Given the description of an element on the screen output the (x, y) to click on. 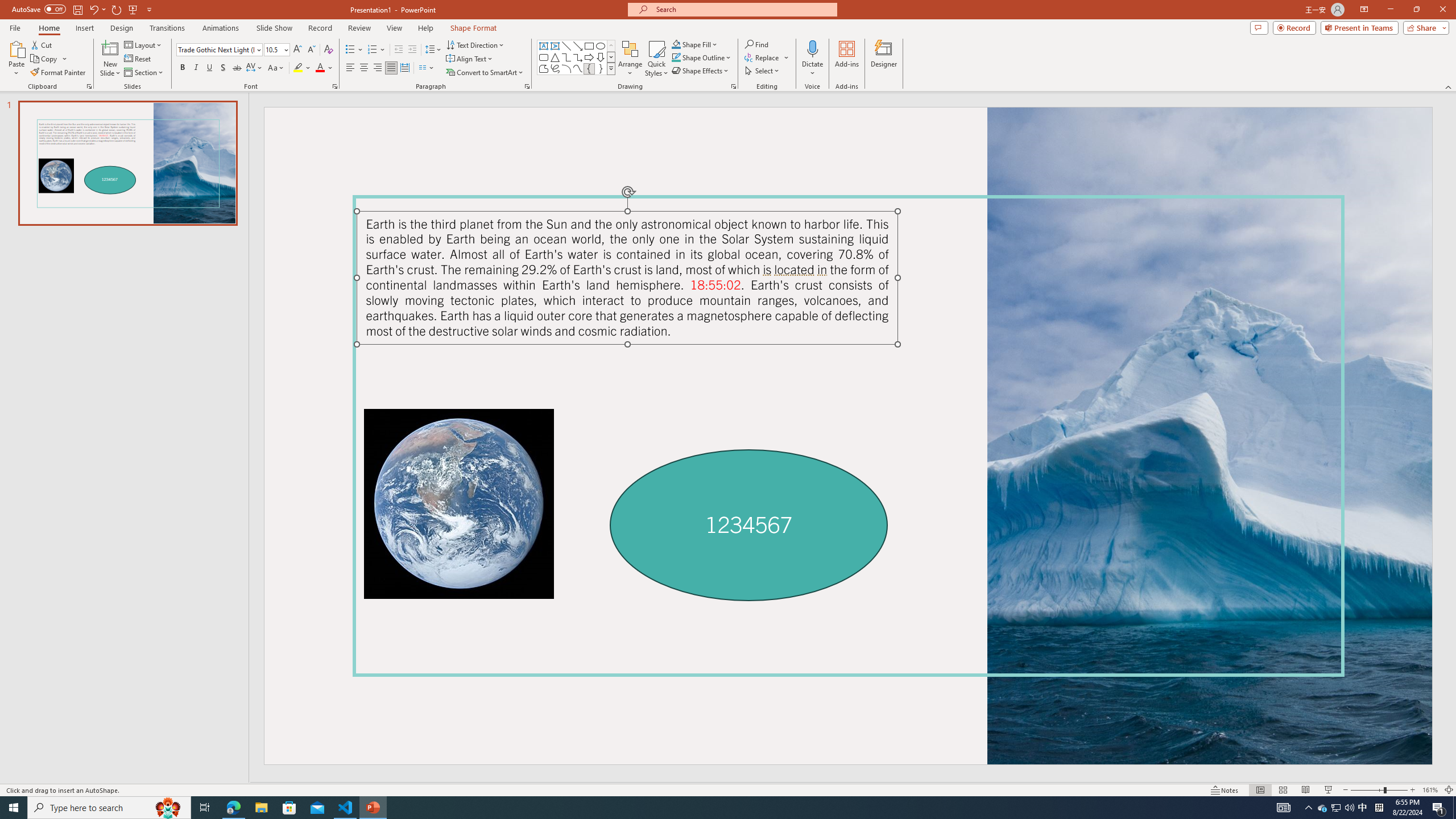
Right Brace (600, 68)
Change Case (276, 67)
Line (566, 45)
Select (762, 69)
Isosceles Triangle (554, 57)
Bullets (354, 49)
Font Size (276, 49)
